Given the description of an element on the screen output the (x, y) to click on. 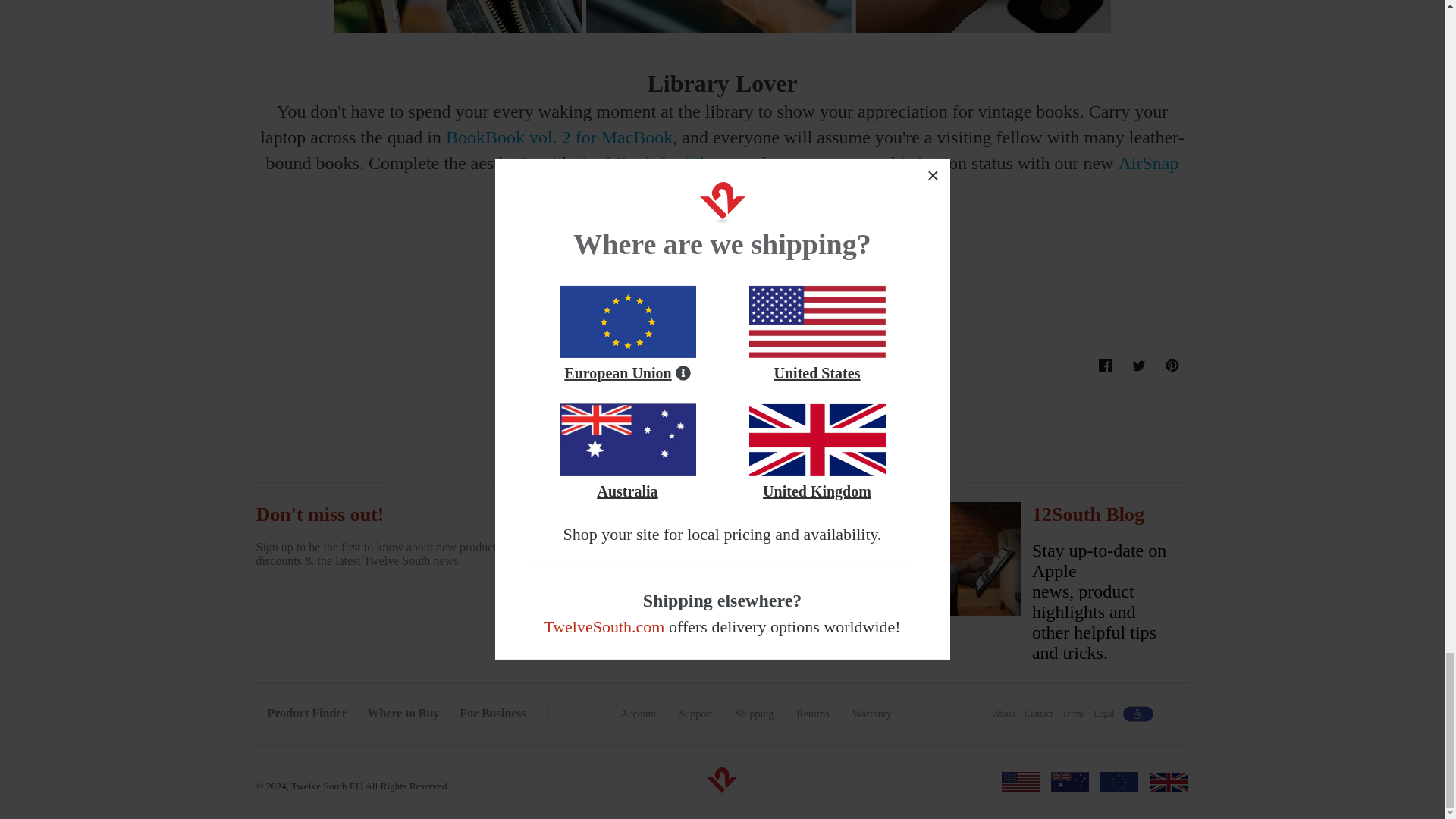
Instagram (842, 640)
Pinterest (815, 640)
BookBook vol. 2 for MacBook (558, 137)
BookBook for iPhone (655, 162)
icon-accessibility Created with Sketch. (1137, 713)
Twitter (1172, 365)
YouTube (760, 640)
AirSnap Twill (869, 640)
Facebook (1105, 365)
